Given the description of an element on the screen output the (x, y) to click on. 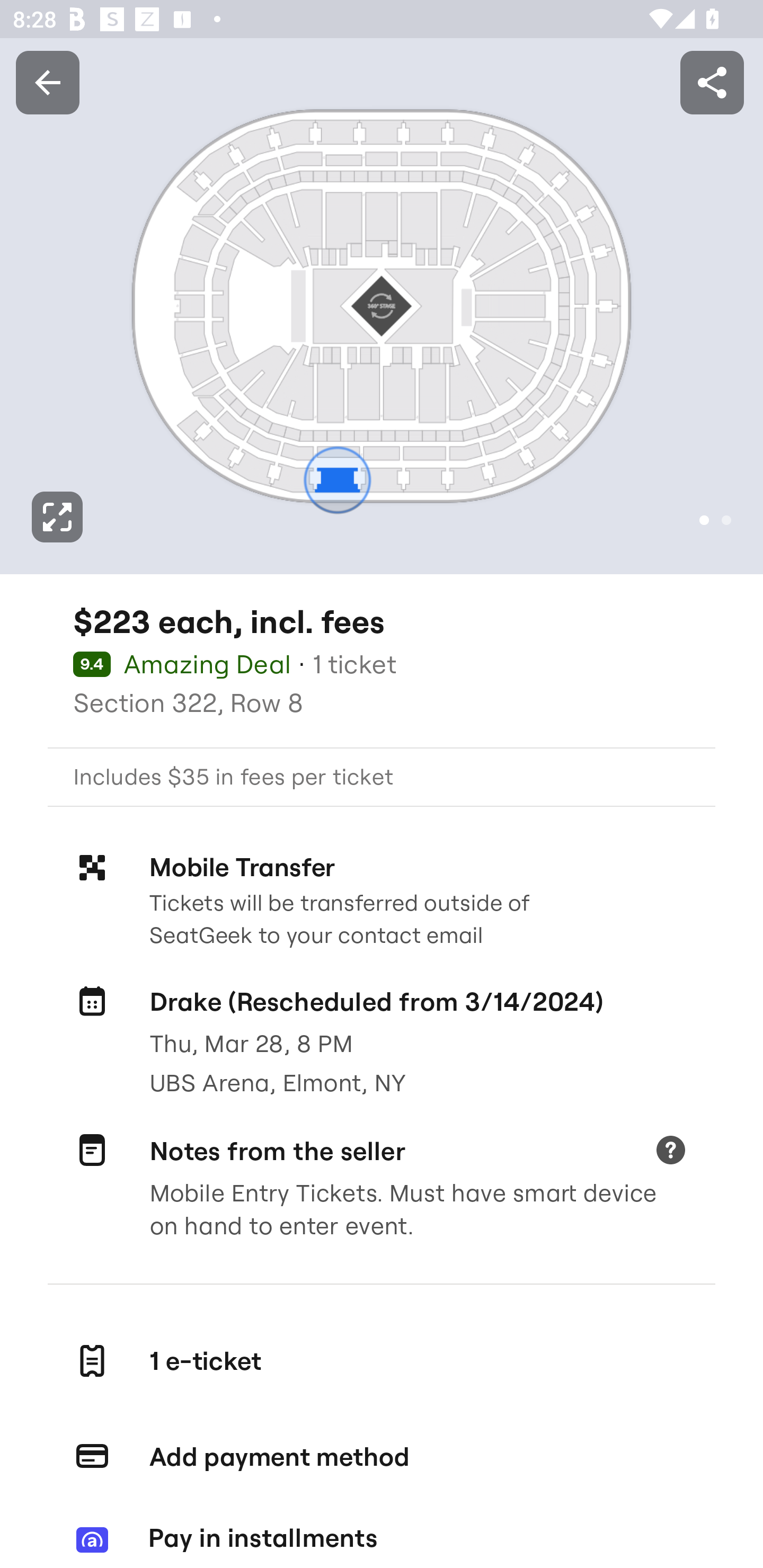
Back (47, 81)
Share (711, 81)
Expand image to fullscreen (57, 517)
Learn more (670, 1151)
1 e-ticket (381, 1360)
Add payment method (381, 1457)
